Given the description of an element on the screen output the (x, y) to click on. 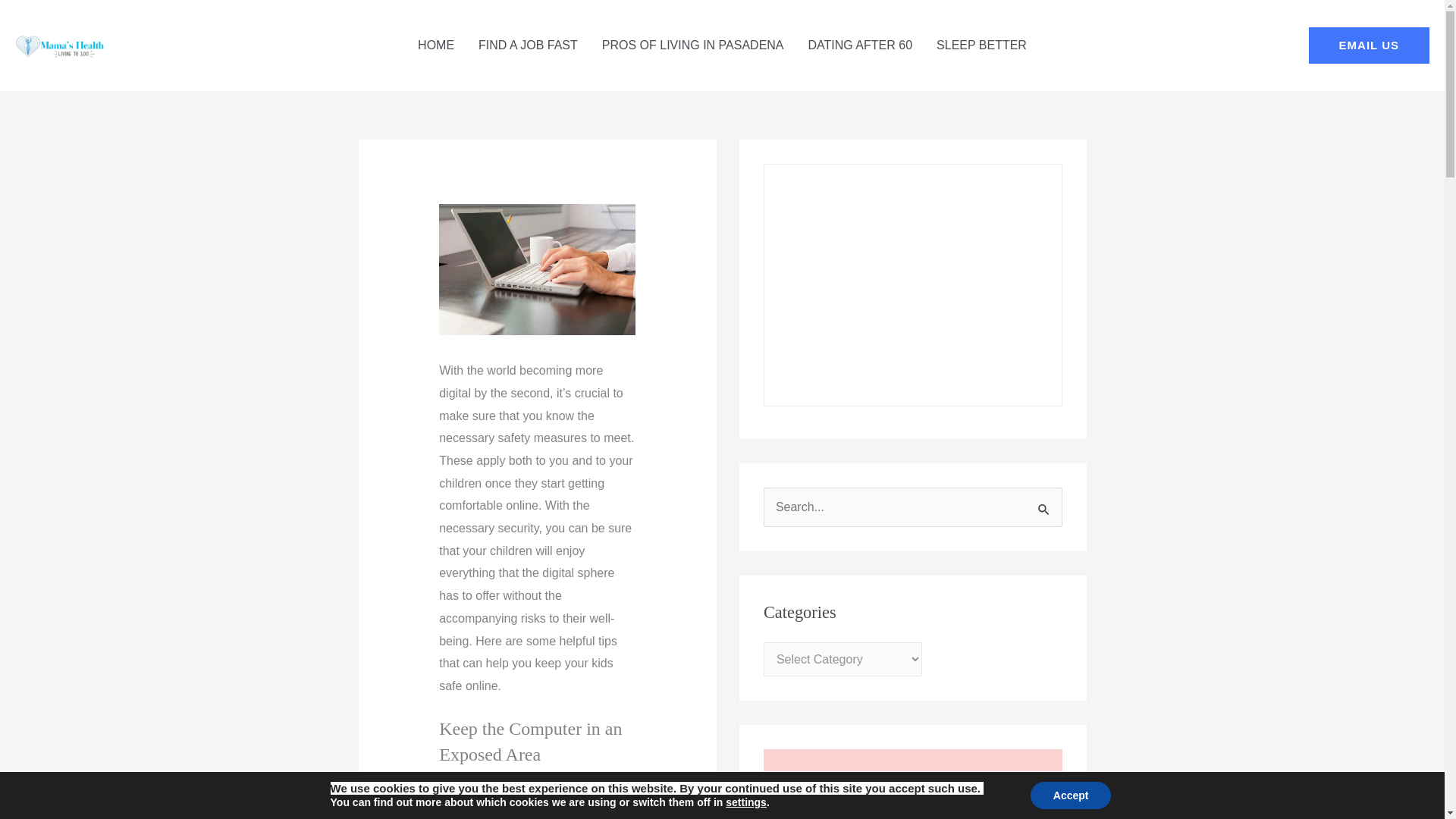
DATING AFTER 60 (860, 45)
FIND A JOB FAST (527, 45)
SLEEP BETTER (981, 45)
EMAIL US (1368, 45)
PROS OF LIVING IN PASADENA (692, 45)
settings (746, 802)
Accept (1071, 795)
